Given the description of an element on the screen output the (x, y) to click on. 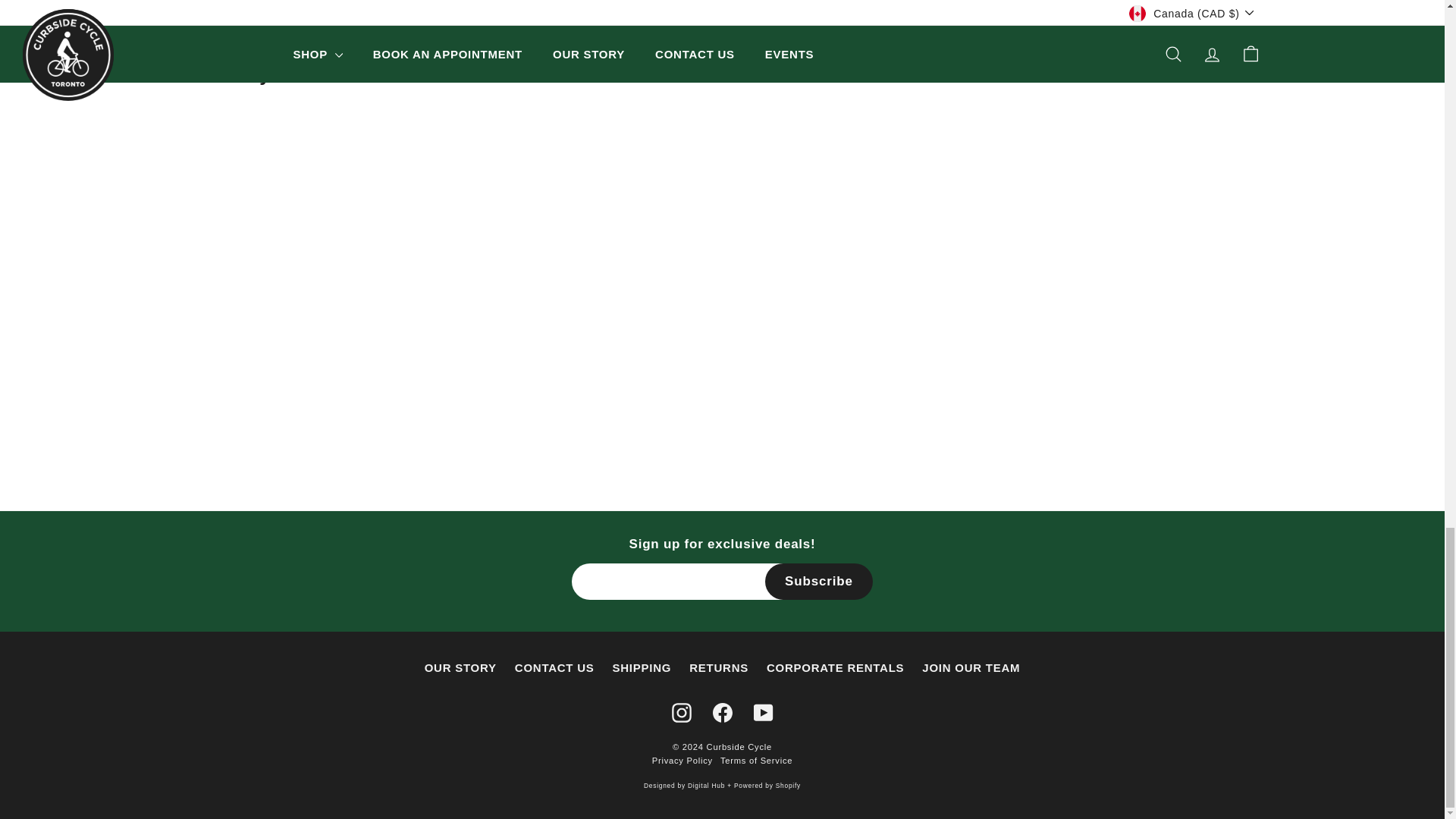
Curbside Cycle on YouTube (763, 712)
Curbside Cycle on Facebook (722, 712)
Curbside Cycle on Instagram (681, 712)
Subscribe (818, 581)
